Given the description of an element on the screen output the (x, y) to click on. 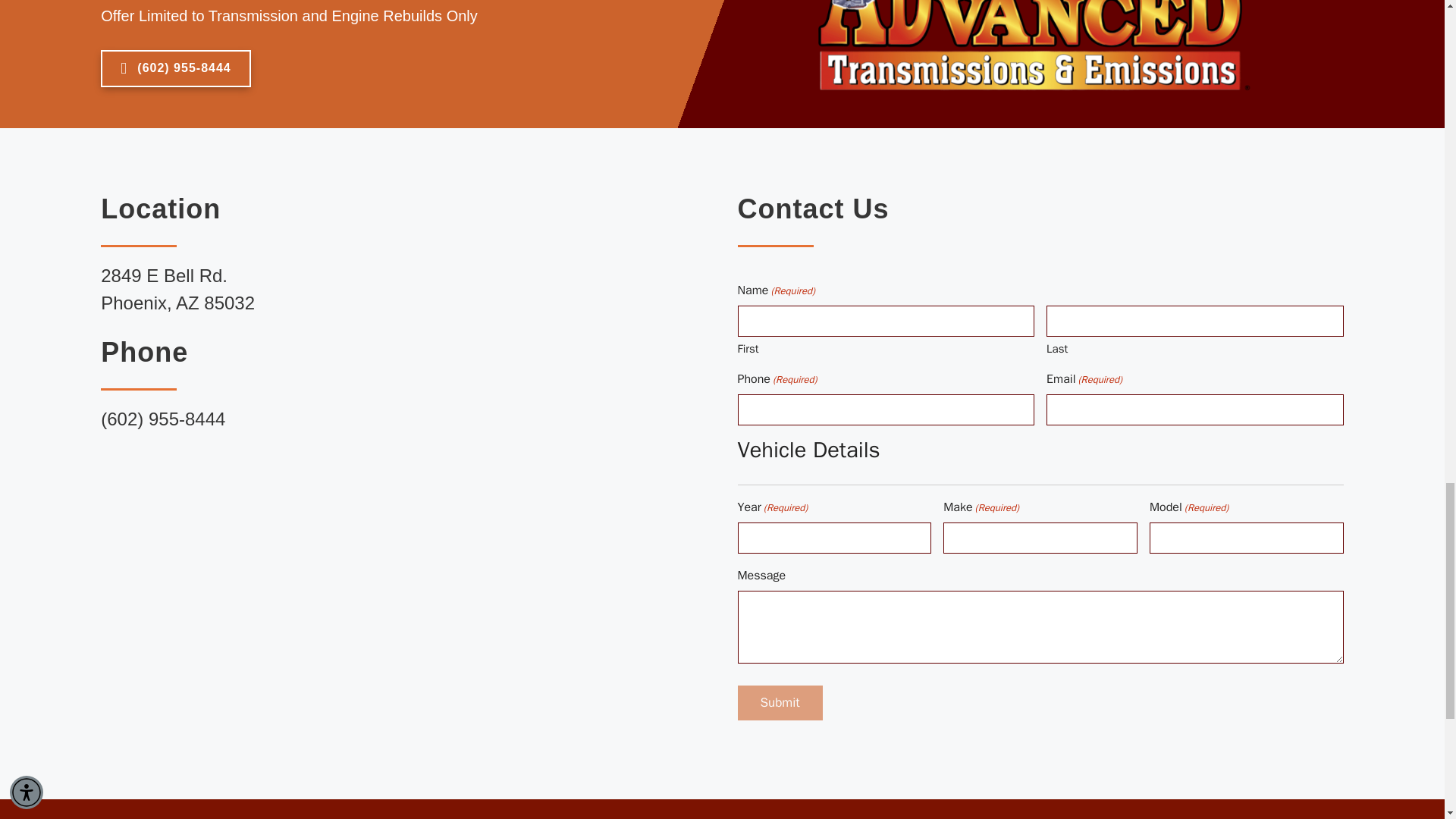
Submit (779, 702)
